Given the description of an element on the screen output the (x, y) to click on. 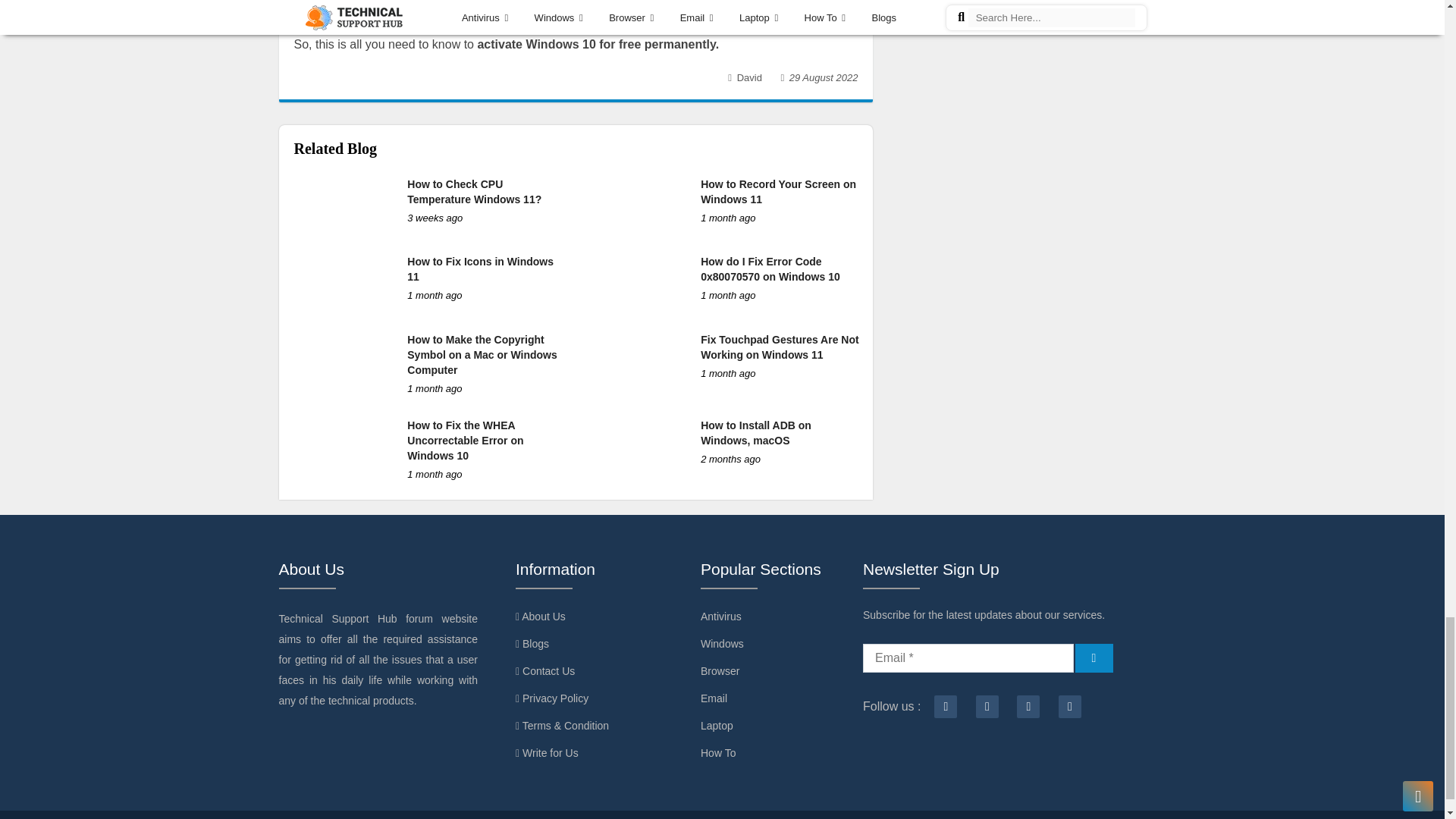
How to Fix Icons in Windows 11 (480, 268)
Fix Touchpad Gestures Are Not Working on Windows 11 (779, 347)
How to Fix the WHEA Uncorrectable Error on Windows 10 (464, 440)
How to Record Your Screen on Windows 11 (778, 191)
How do I Fix Error Code 0x80070570 on Windows 10 (770, 268)
How to Install ADB on Windows, macOS (755, 432)
How to Check CPU Temperature Windows 11? (474, 191)
